Given the description of an element on the screen output the (x, y) to click on. 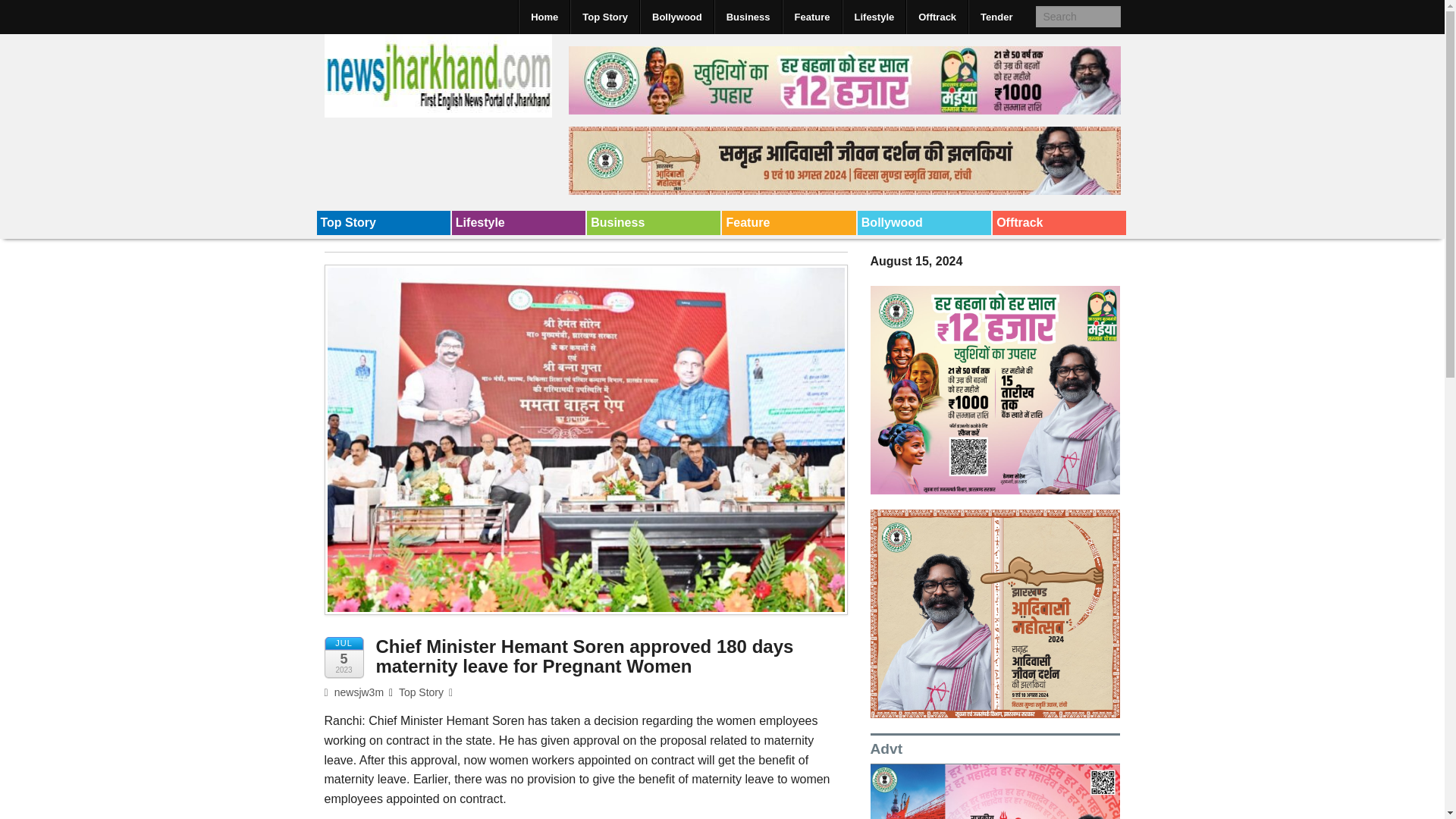
Top Story (383, 222)
Home (544, 17)
Business (747, 17)
Bollywood (924, 222)
Business (653, 222)
Feature (789, 222)
Bollywood (924, 222)
newsjw3m (354, 692)
Offtrack (937, 17)
Offtrack (1058, 222)
